Given the description of an element on the screen output the (x, y) to click on. 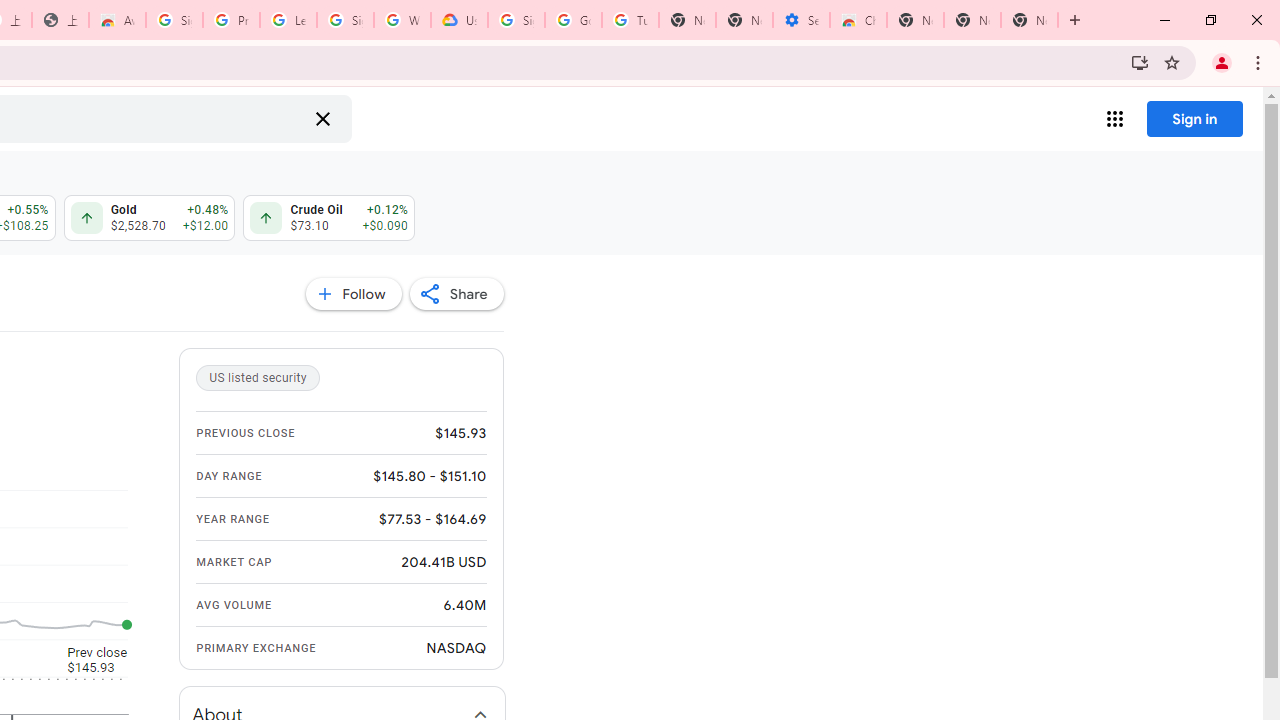
Install Google Finance (1139, 62)
